Given the description of an element on the screen output the (x, y) to click on. 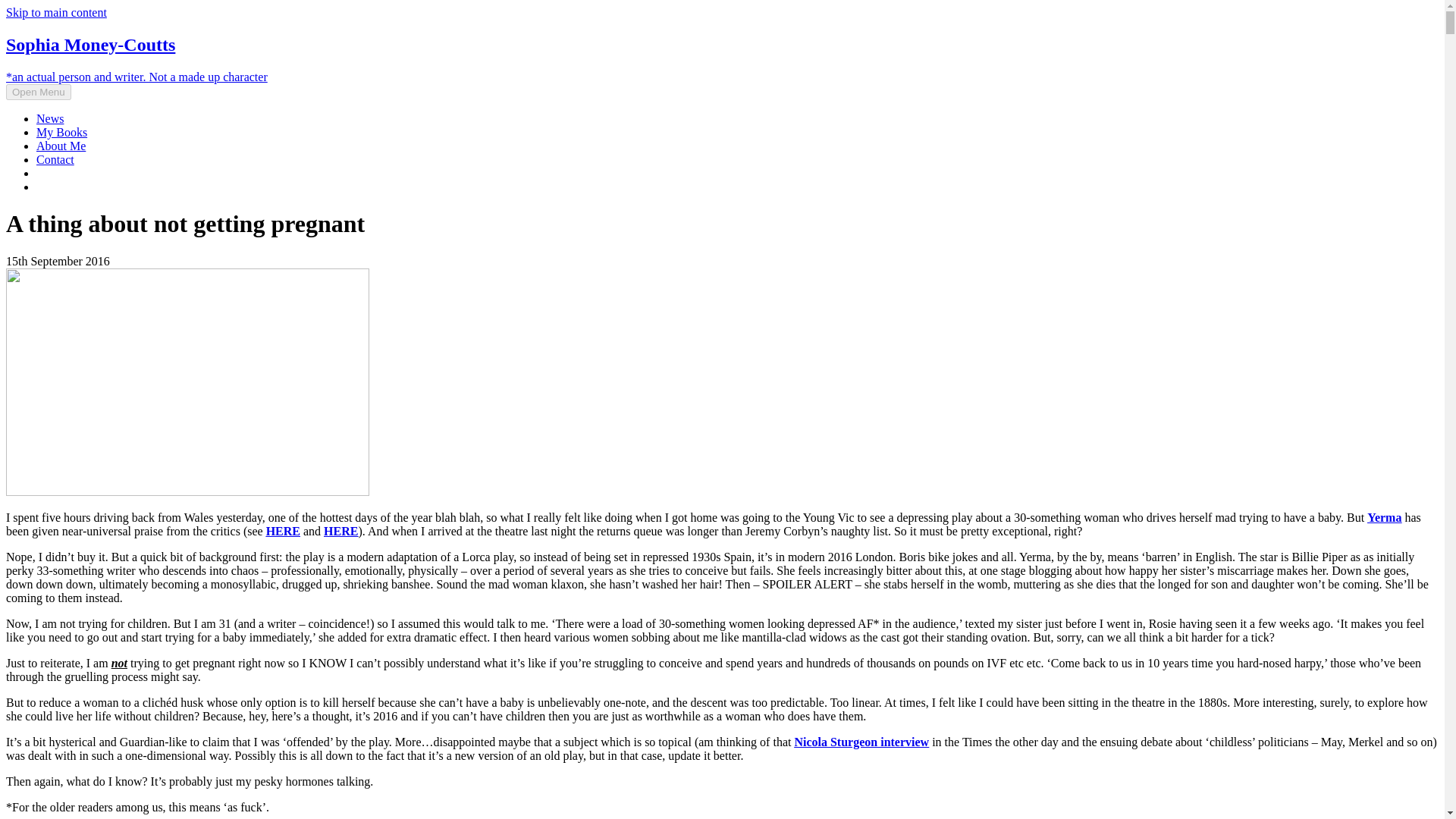
Yerma (1383, 517)
HERE (340, 530)
About Me (60, 145)
News (50, 118)
Open Menu (38, 91)
Contact (55, 159)
HERE (282, 530)
Nicola Sturgeon interview (860, 741)
Skip to main content (55, 11)
My Books (61, 132)
